Given the description of an element on the screen output the (x, y) to click on. 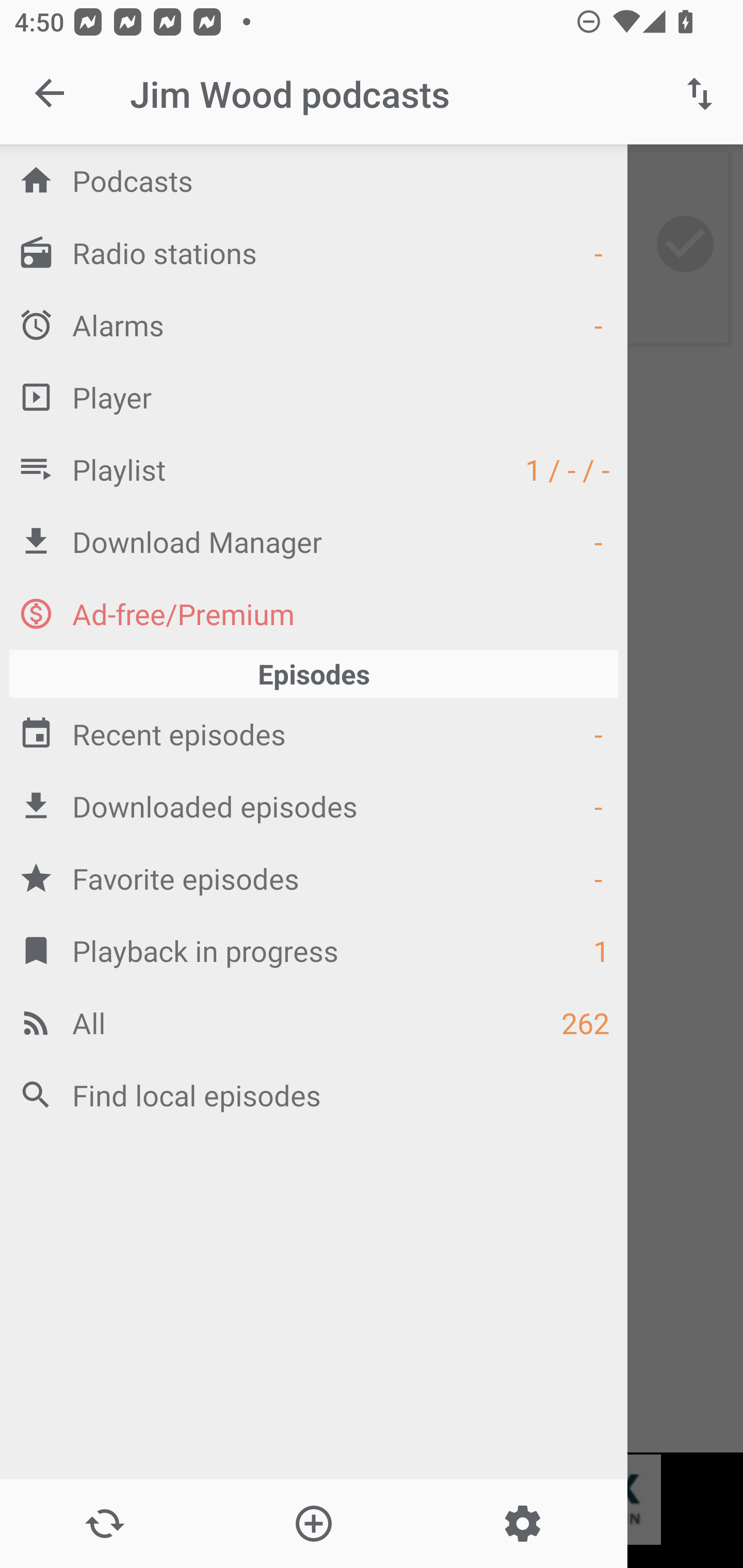
Close navigation sidebar (50, 93)
Sort (699, 93)
Podcasts (313, 180)
Radio stations  -  (313, 252)
Alarms  -  (313, 324)
Player (313, 396)
Playlist 1 / - / - (313, 468)
Download Manager  -  (313, 540)
Ad-free/Premium (313, 613)
Recent episodes  -  (313, 733)
Downloaded episodes  -  (313, 805)
Favorite episodes  -  (313, 878)
Playback in progress 1 (313, 950)
All 262 (313, 1022)
Find local episodes (313, 1094)
Update (104, 1523)
Add new Podcast (312, 1523)
Settings (522, 1523)
